Given the description of an element on the screen output the (x, y) to click on. 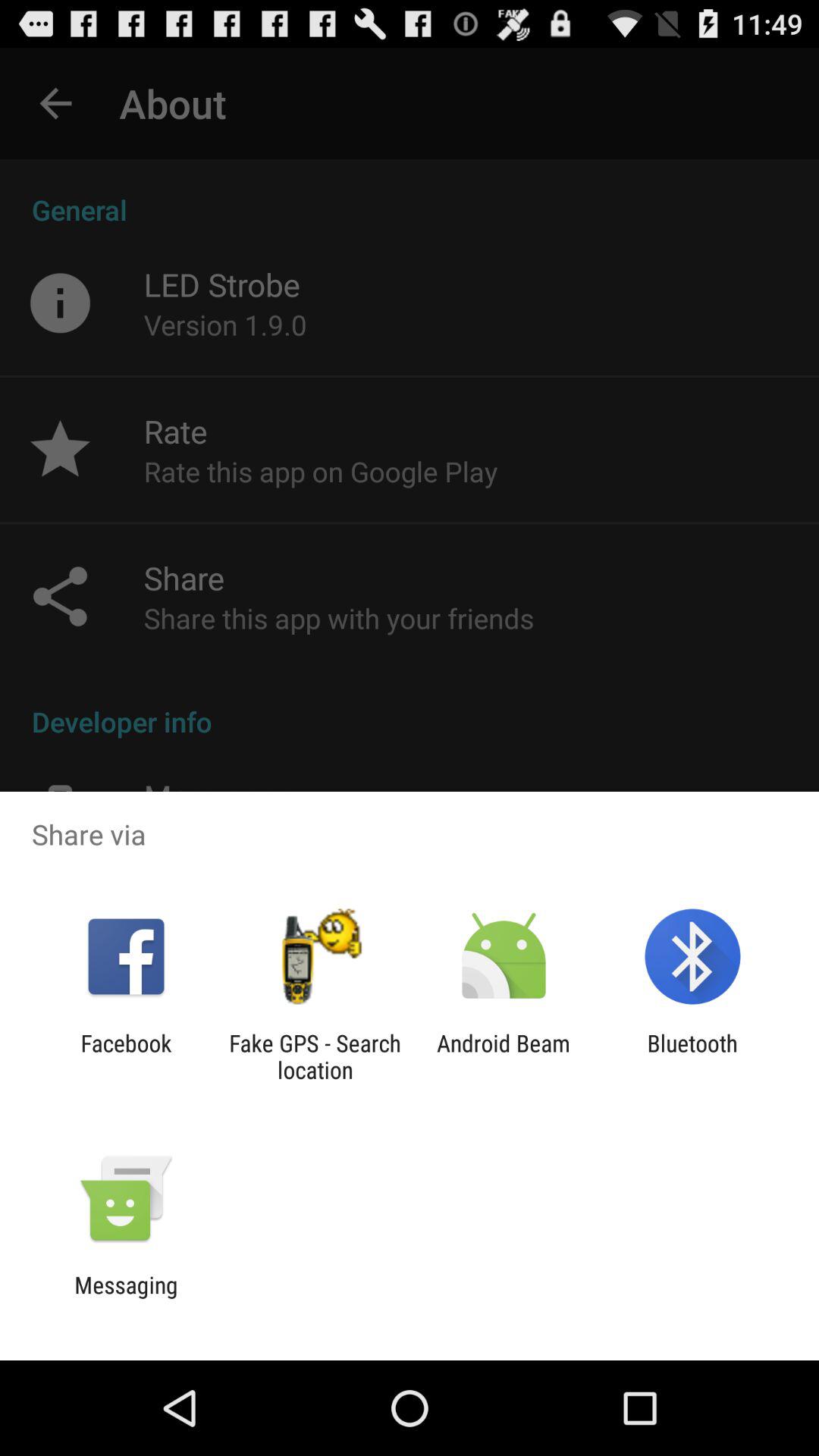
launch icon to the left of the bluetooth icon (503, 1056)
